Given the description of an element on the screen output the (x, y) to click on. 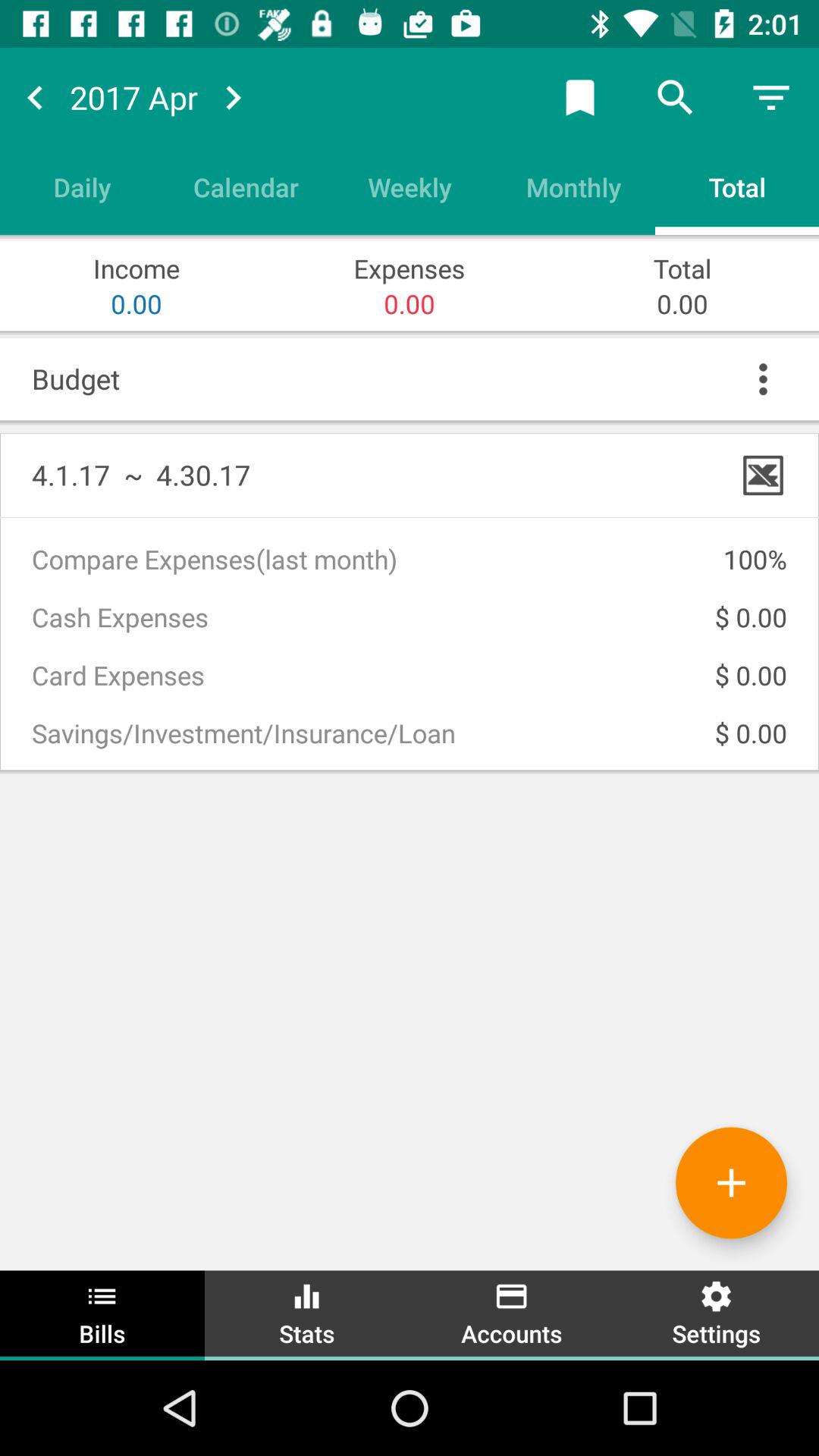
tap settings item (716, 1313)
